Given the description of an element on the screen output the (x, y) to click on. 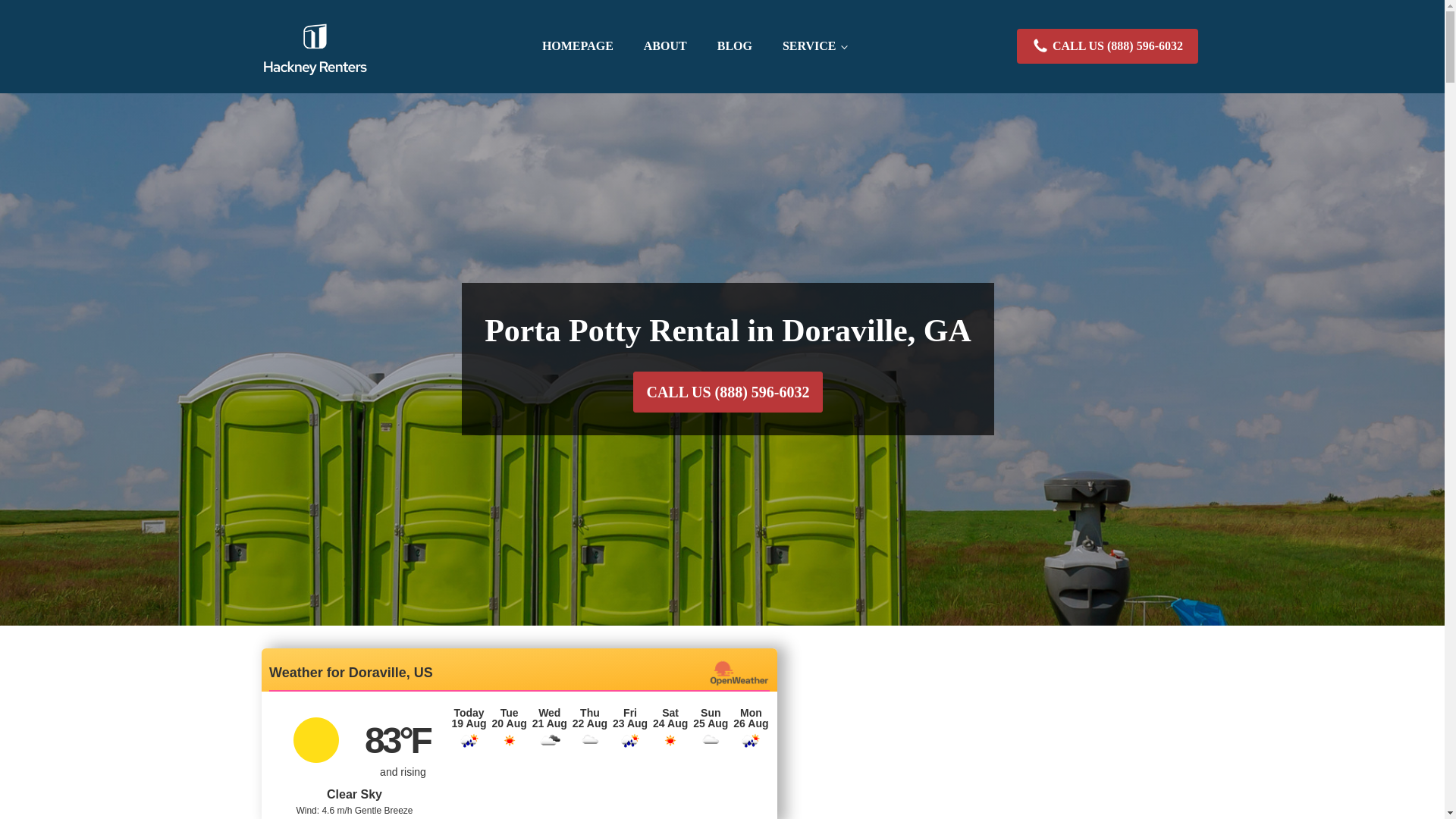
ABOUT (664, 46)
SERVICE (814, 46)
HOMEPAGE (577, 46)
BLOG (734, 46)
